Given the description of an element on the screen output the (x, y) to click on. 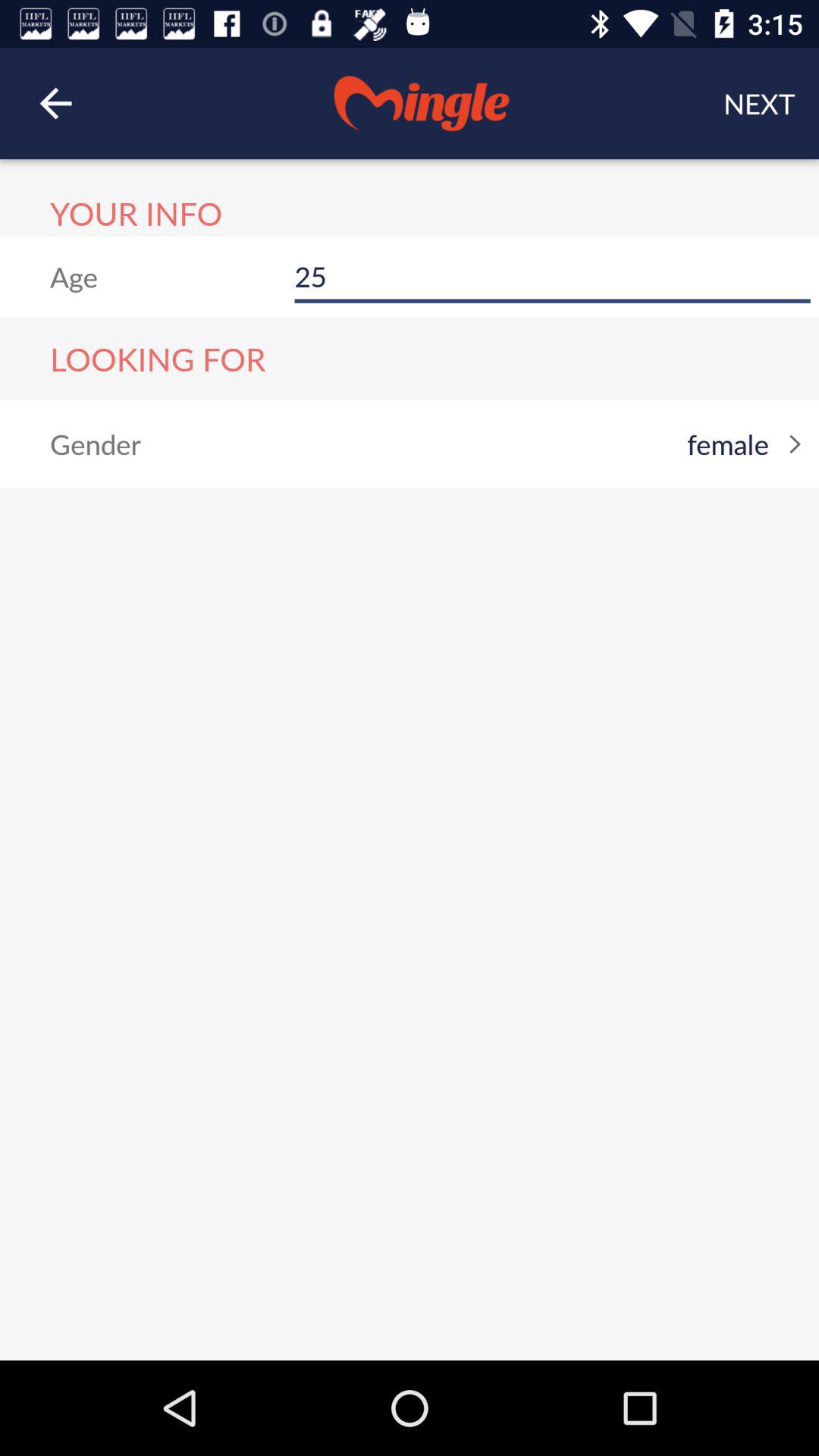
jump until the next item (759, 103)
